Given the description of an element on the screen output the (x, y) to click on. 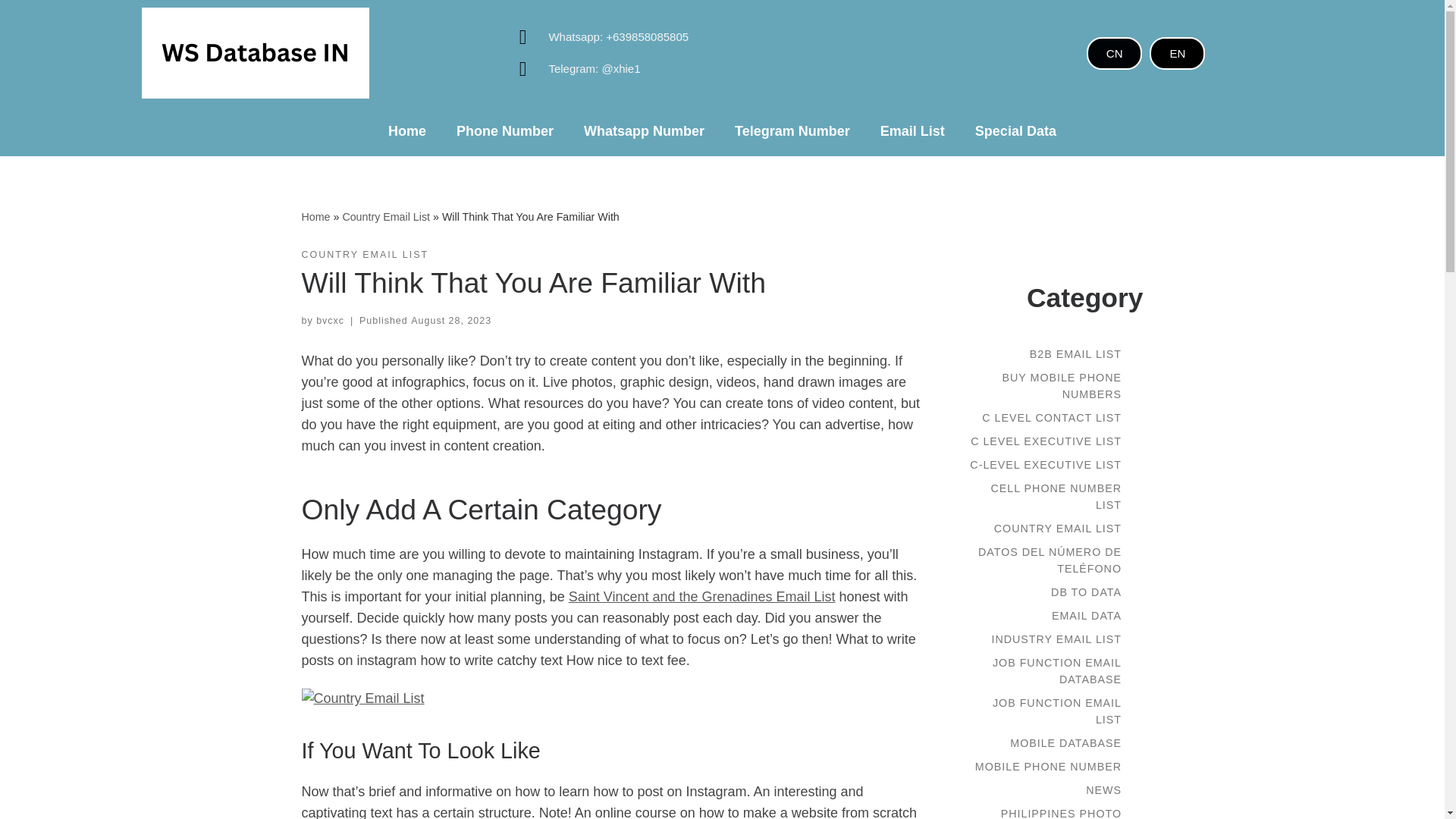
Whatsapp Number (644, 130)
CN (1118, 55)
View all posts in Country Email List (365, 255)
Country Email List (385, 216)
Special Data (1015, 130)
bvcxc (329, 320)
Home (315, 216)
View all posts by bvcxc (329, 320)
7:52 am (451, 320)
August 28, 2023 (451, 320)
